Given the description of an element on the screen output the (x, y) to click on. 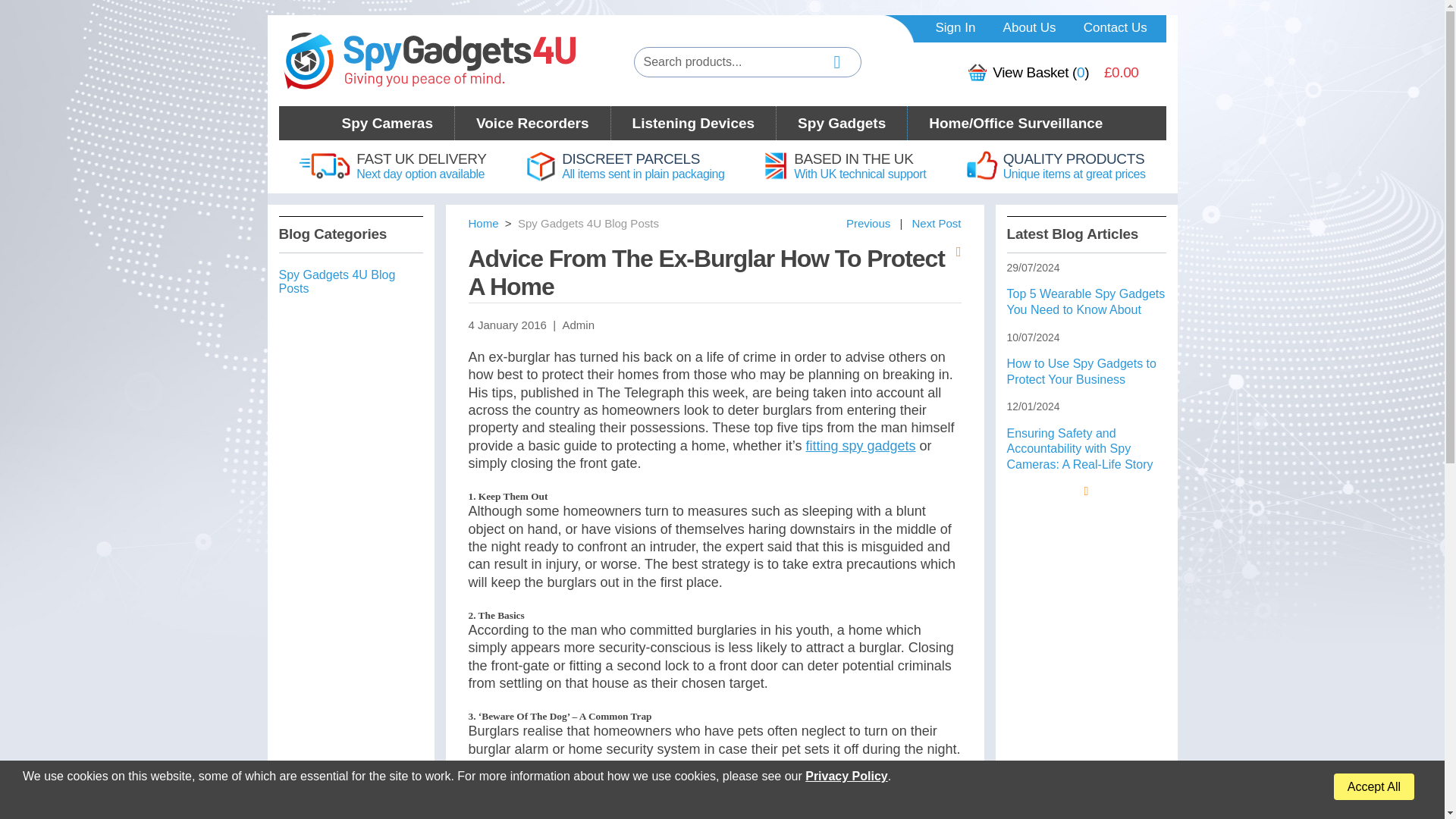
Contact Us (1115, 28)
Previous (867, 223)
Go (421, 165)
How to Use Spy Gadgets to Protect Your Business (848, 61)
Top 5 Wearable Spy Gadgets You Need to Know About (1081, 371)
The Most Famous Spies Of All Time (1086, 301)
Spy Gadgets 4U Blog Posts (867, 223)
Spy Gadgets 4U Blog Posts (337, 281)
Sign In (588, 223)
Home (955, 28)
fitting spy gadgets (483, 223)
Next Post (860, 445)
CCTV Spy Cameras Through The Ages (935, 223)
